Given the description of an element on the screen output the (x, y) to click on. 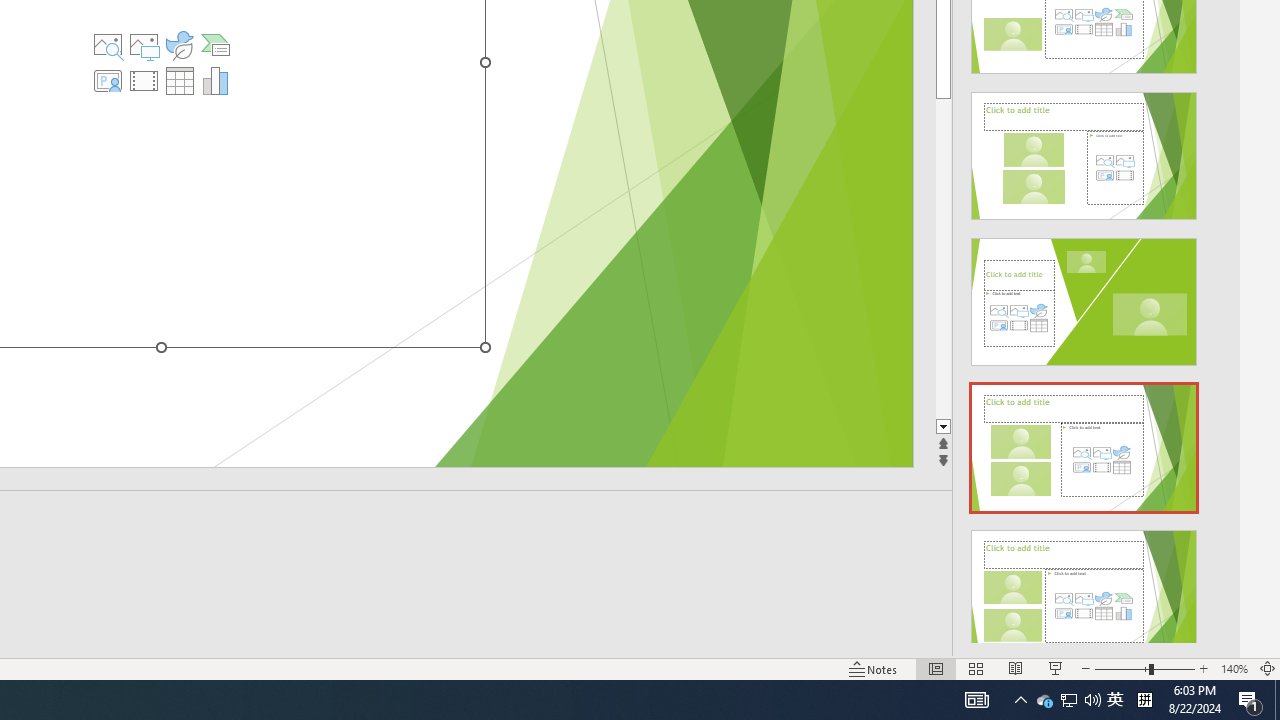
Zoom 140% (1234, 668)
Insert Table (179, 80)
Pictures (144, 44)
